Given the description of an element on the screen output the (x, y) to click on. 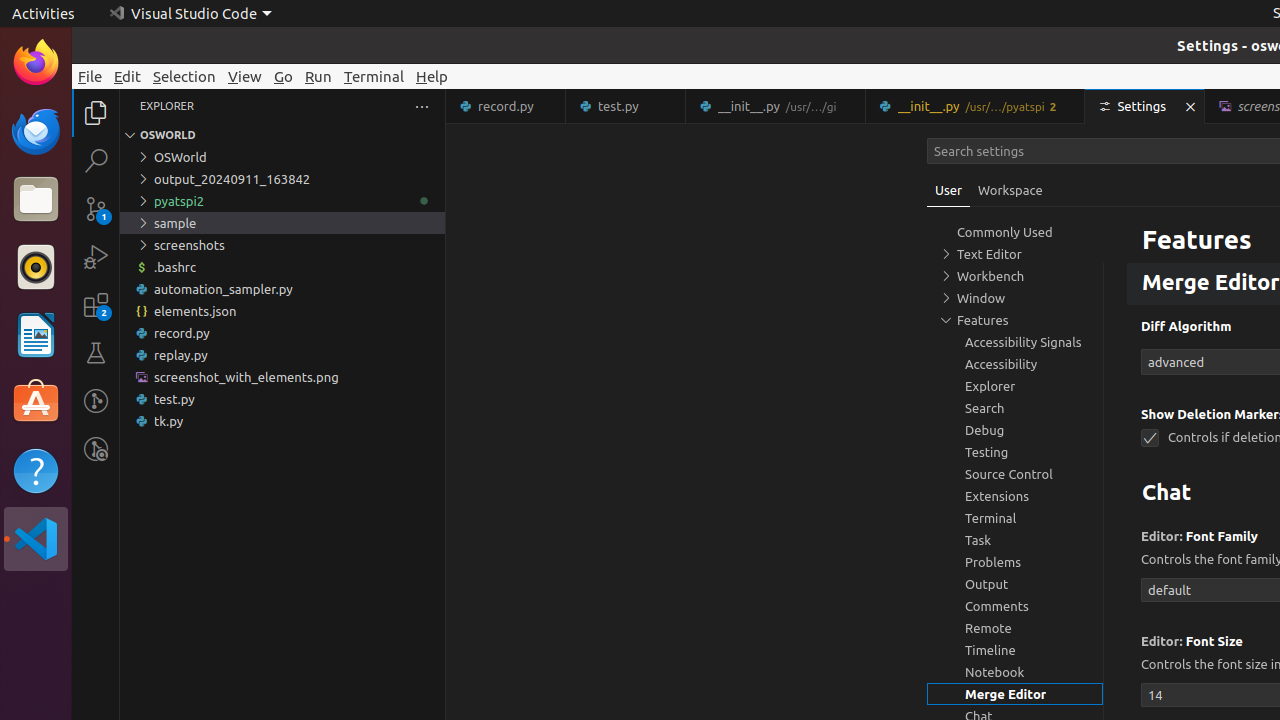
Terminal, group Element type: tree-item (1015, 518)
Settings Element type: page-tab (1145, 106)
Search (Ctrl+Shift+F) Element type: page-tab (96, 160)
sample Element type: tree-item (282, 223)
